Given the description of an element on the screen output the (x, y) to click on. 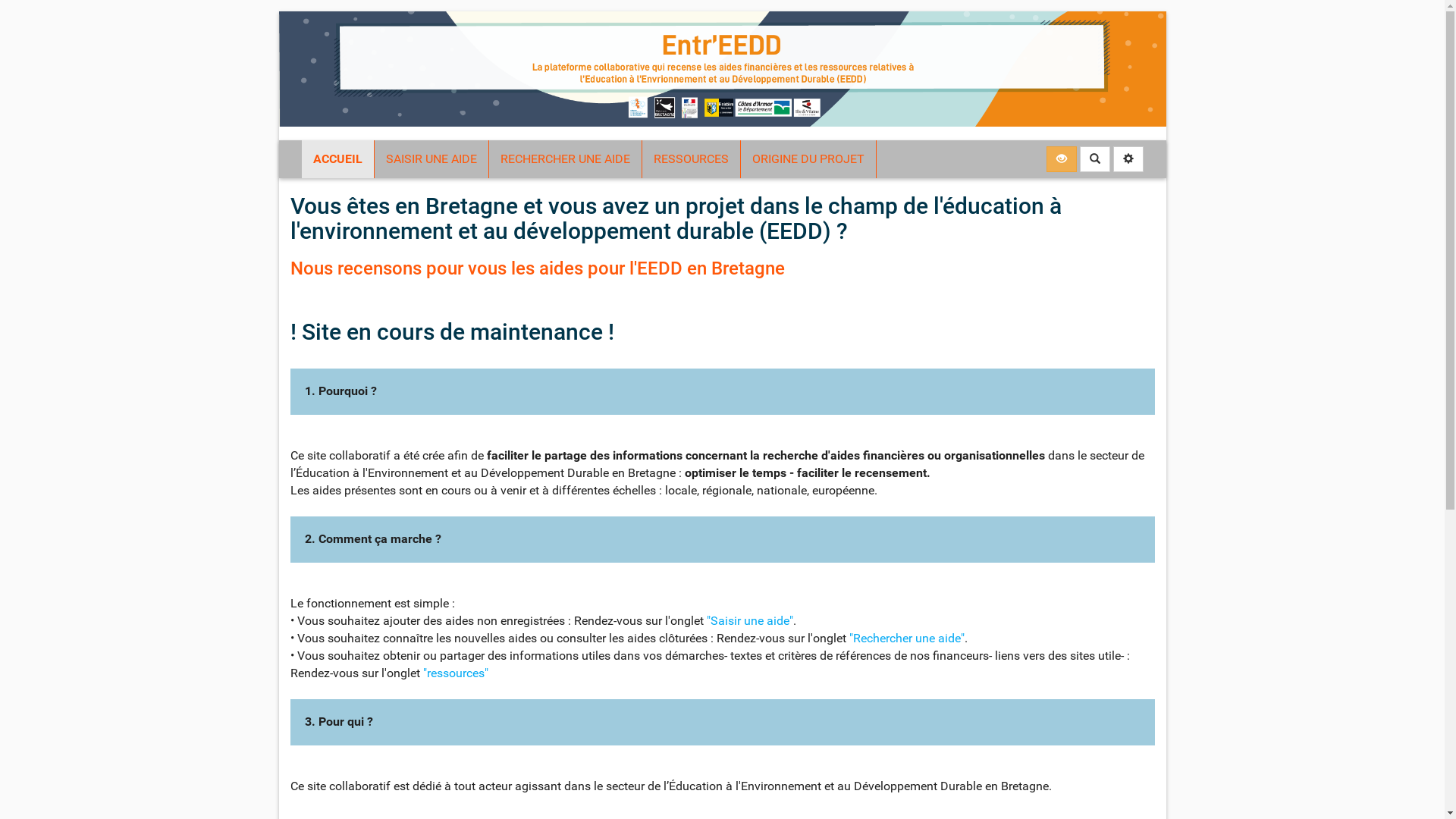
ACCUEIL Element type: text (337, 159)
"Rechercher une aide" Element type: text (906, 637)
Abonnement au flux RSS du site Element type: hover (1061, 159)
Rechercher Element type: text (1094, 159)
SAISIR UNE AIDE Element type: text (431, 159)
ORIGINE DU PROJET Element type: text (807, 159)
"ressources" Element type: text (455, 672)
RESSOURCES Element type: text (690, 159)
RECHERCHER UNE AIDE Element type: text (564, 159)
"Saisir une aide" Element type: text (749, 620)
